Given the description of an element on the screen output the (x, y) to click on. 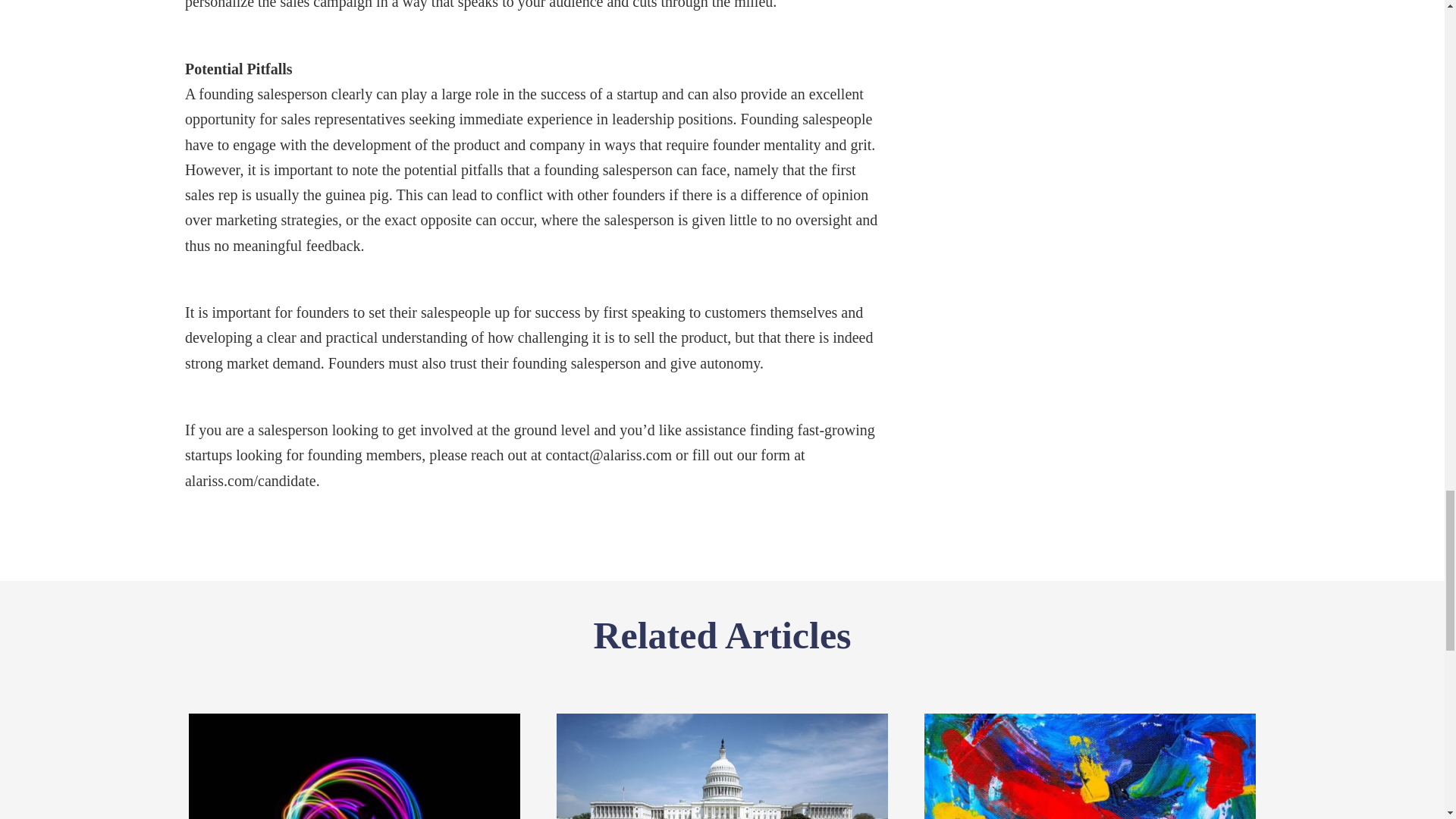
Reflections on Careers in Public and Private Sectors (722, 797)
